Given the description of an element on the screen output the (x, y) to click on. 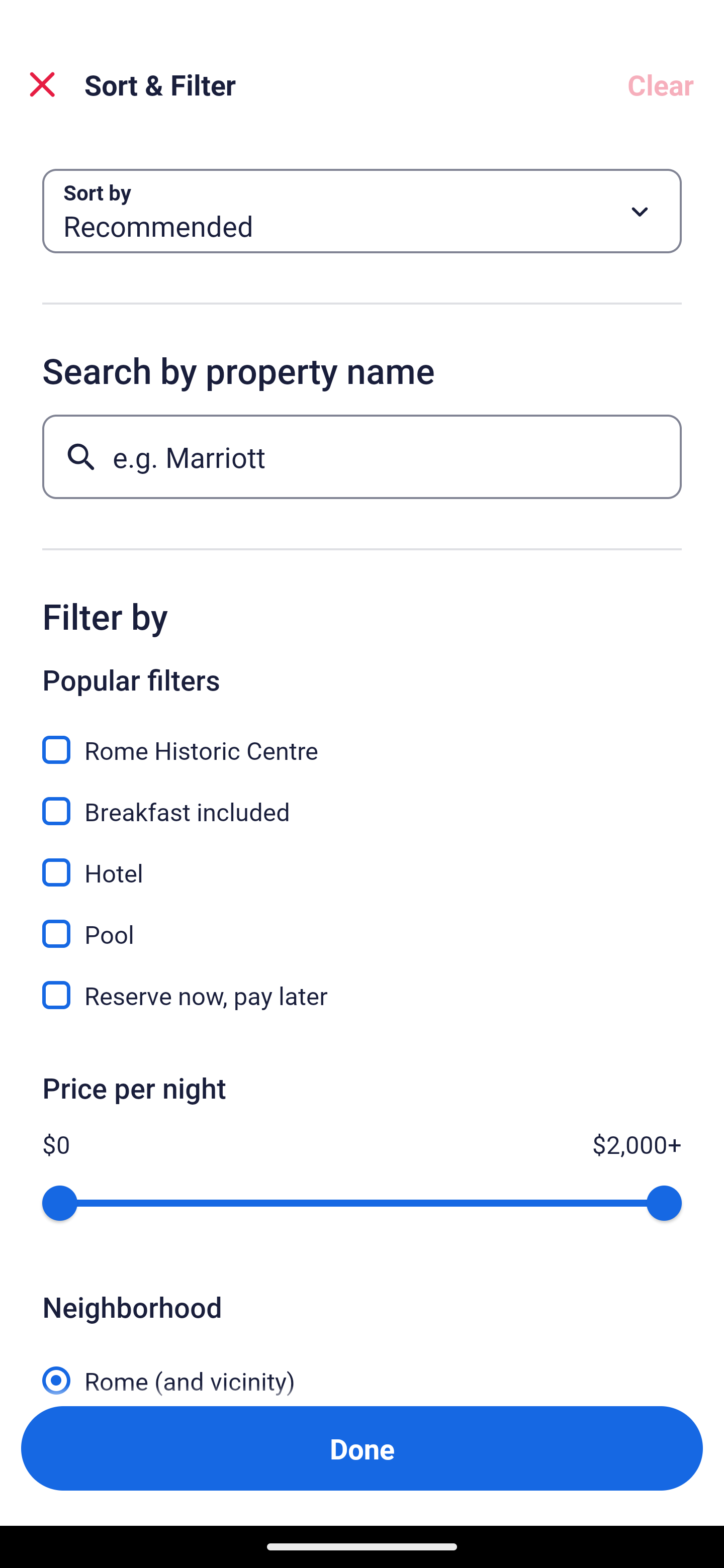
Close Sort and Filter (42, 84)
Clear (660, 84)
Sort by Button Recommended (361, 211)
e.g. Marriott Button (361, 455)
Rome Historic Centre, Rome Historic Centre (361, 738)
Breakfast included, Breakfast included (361, 800)
Hotel, Hotel (361, 861)
Pool, Pool (361, 922)
Reserve now, pay later, Reserve now, pay later (361, 995)
Apply and close Sort and Filter Done (361, 1448)
